Given the description of an element on the screen output the (x, y) to click on. 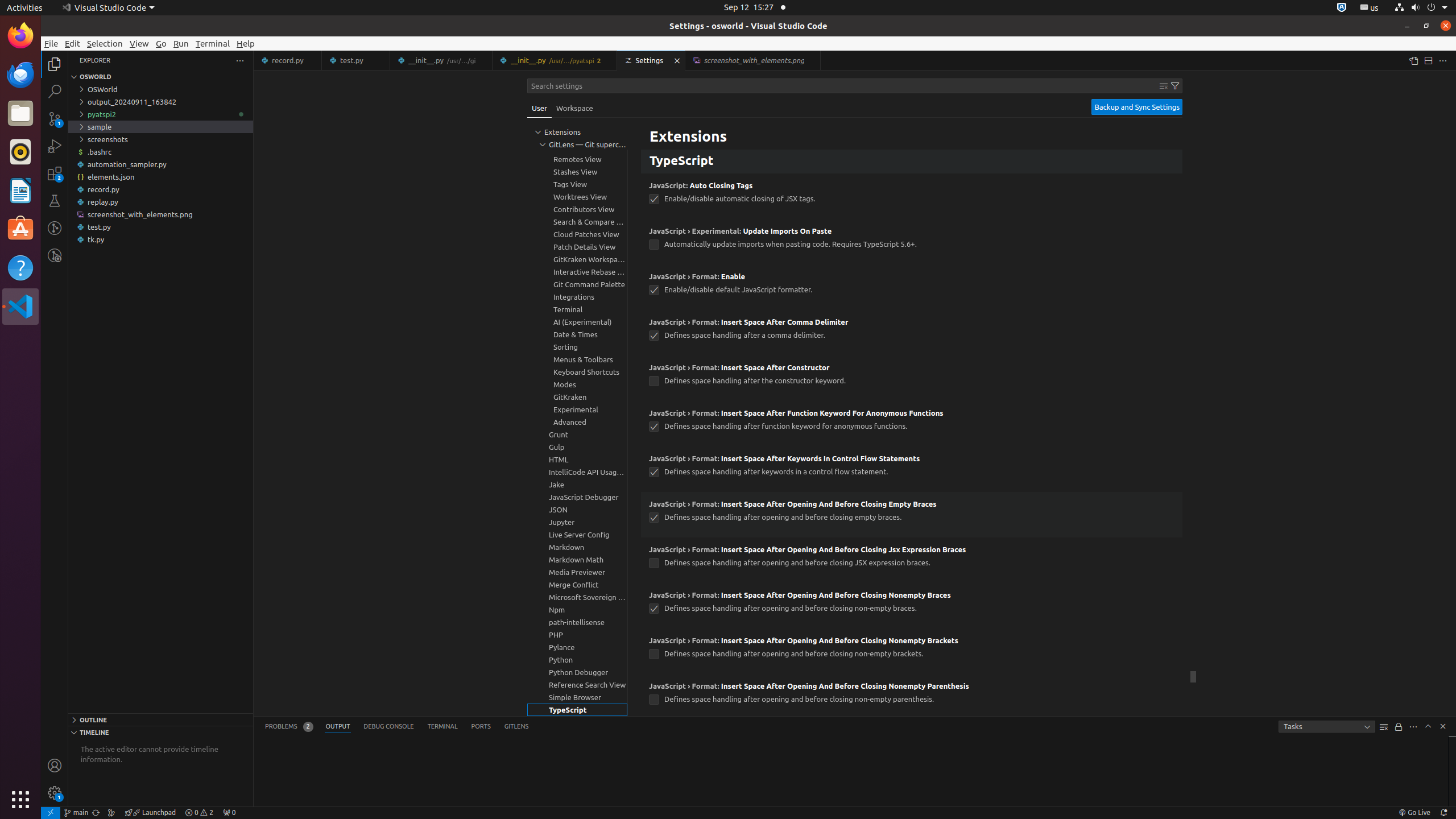
replay.py Element type: tree-item (160, 201)
Sorting, group Element type: tree-item (577, 346)
Search & Compare View, group Element type: tree-item (577, 221)
Explorer (Ctrl+Shift+E) Element type: page-tab (54, 63)
